Given the description of an element on the screen output the (x, y) to click on. 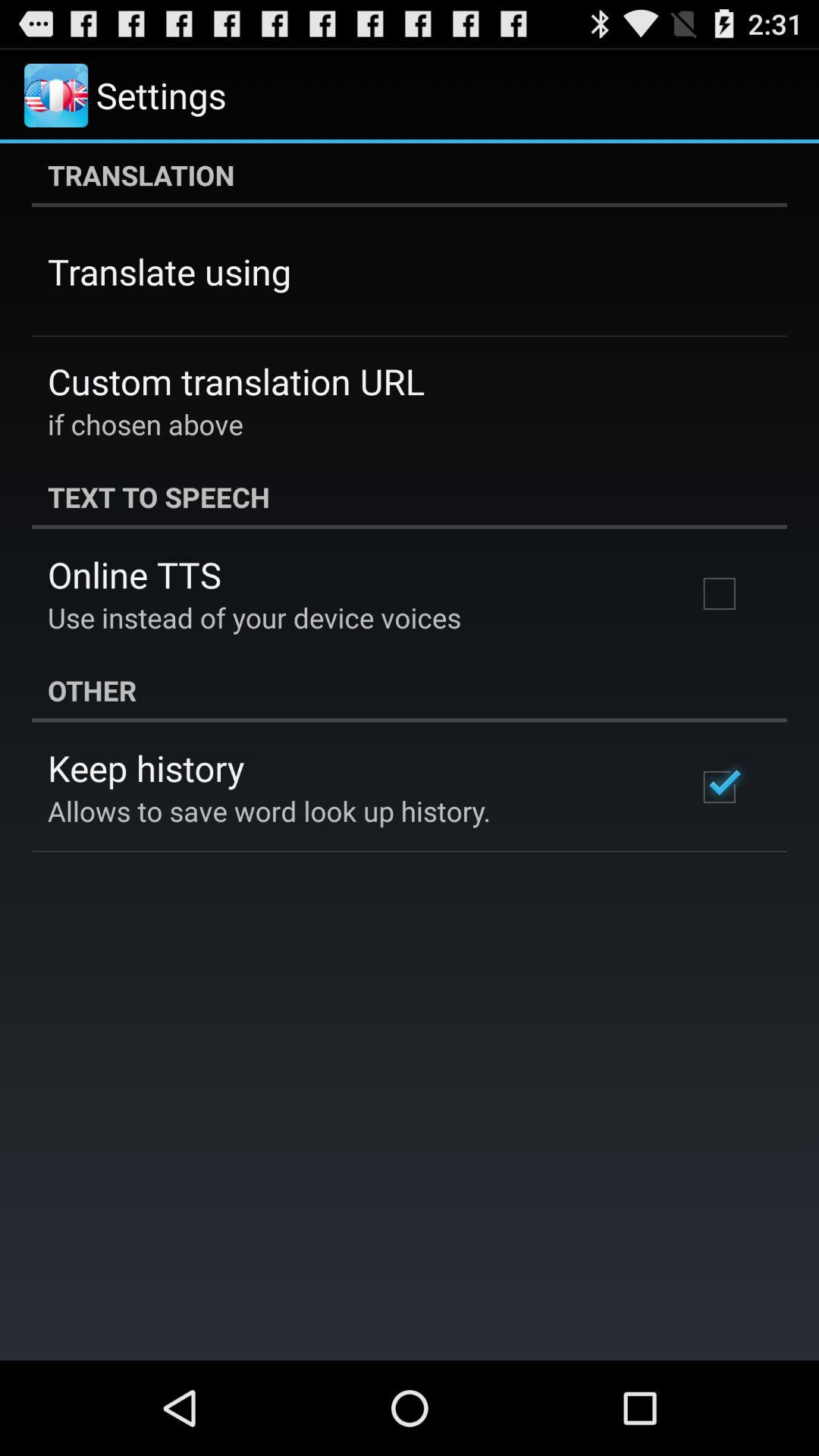
scroll to use instead of app (254, 617)
